Given the description of an element on the screen output the (x, y) to click on. 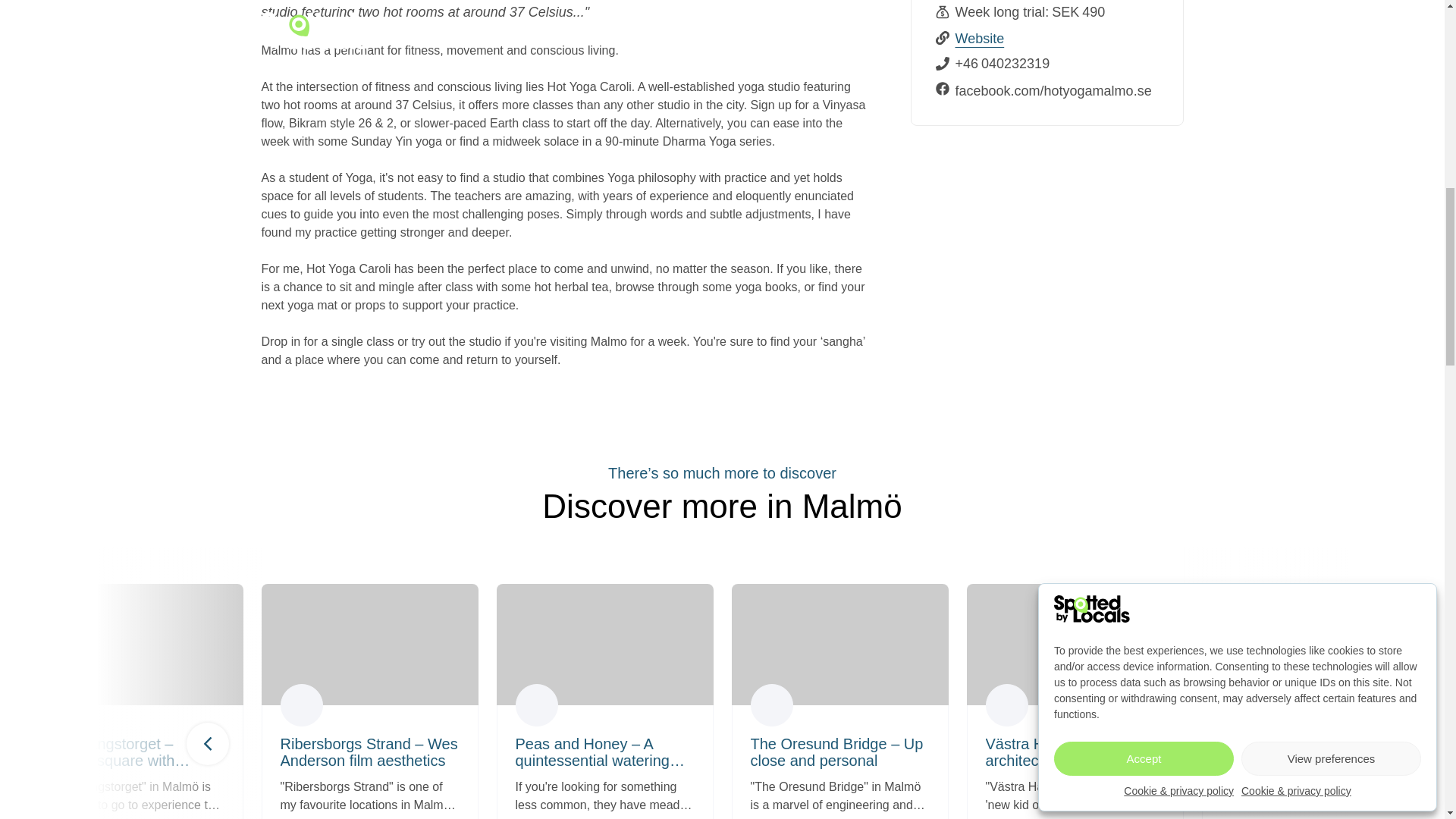
karolinagorska (1242, 704)
joeeagan (66, 704)
johankullberg (1006, 704)
ellaholttinen (302, 704)
karankapur (536, 704)
karolinagorska (772, 704)
